Given the description of an element on the screen output the (x, y) to click on. 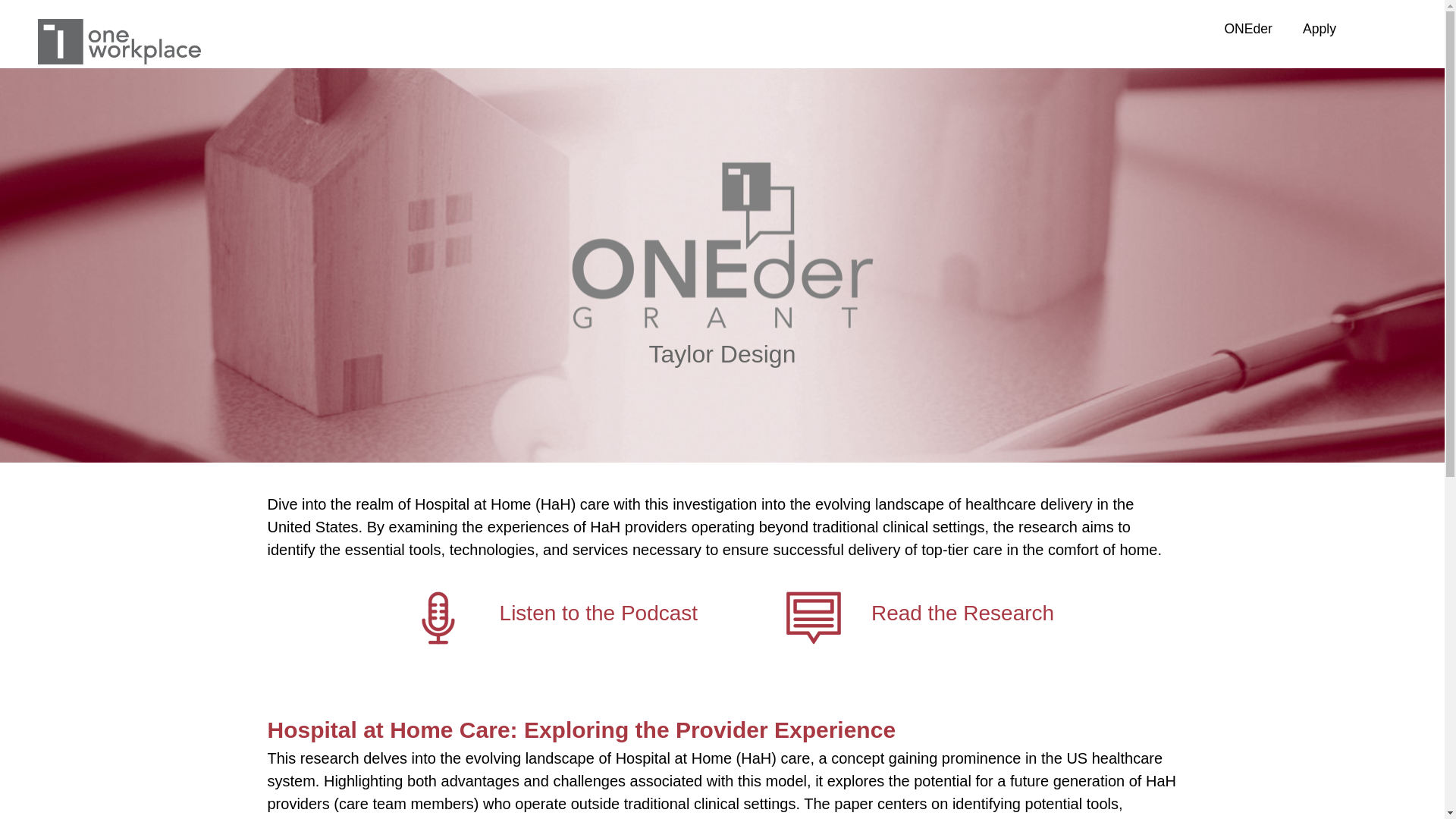
Apply (1319, 28)
Podcast (438, 617)
Listen to the Podcast (598, 612)
One Workplace (118, 41)
Read the Research (962, 612)
Research (813, 617)
ONEder (1247, 28)
